Given the description of an element on the screen output the (x, y) to click on. 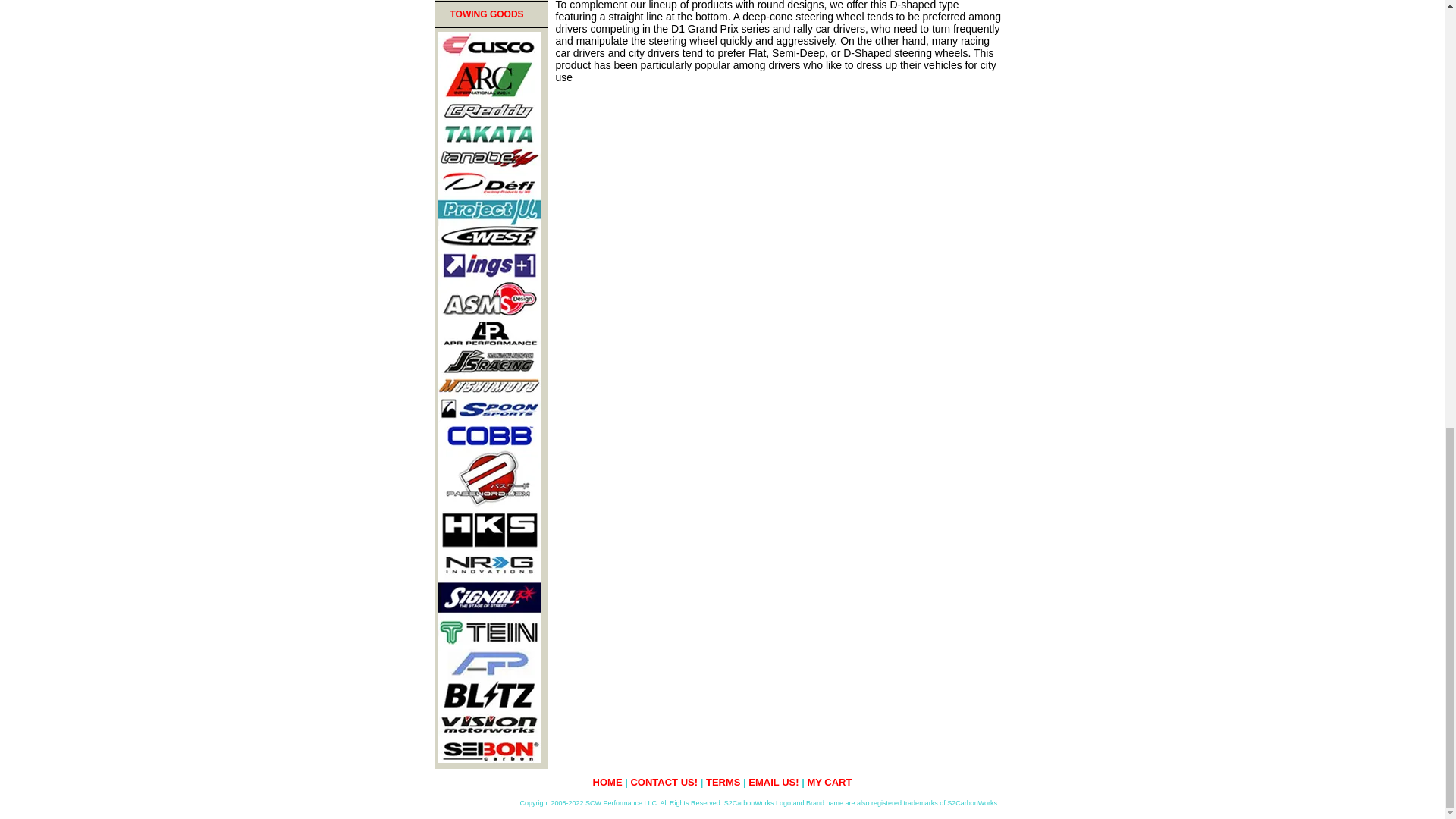
EMAIL US! (772, 781)
MY CART (828, 781)
TERMS (723, 781)
TOWING GOODS (490, 14)
HOME (607, 781)
CONTACT US! (663, 781)
